Given the description of an element on the screen output the (x, y) to click on. 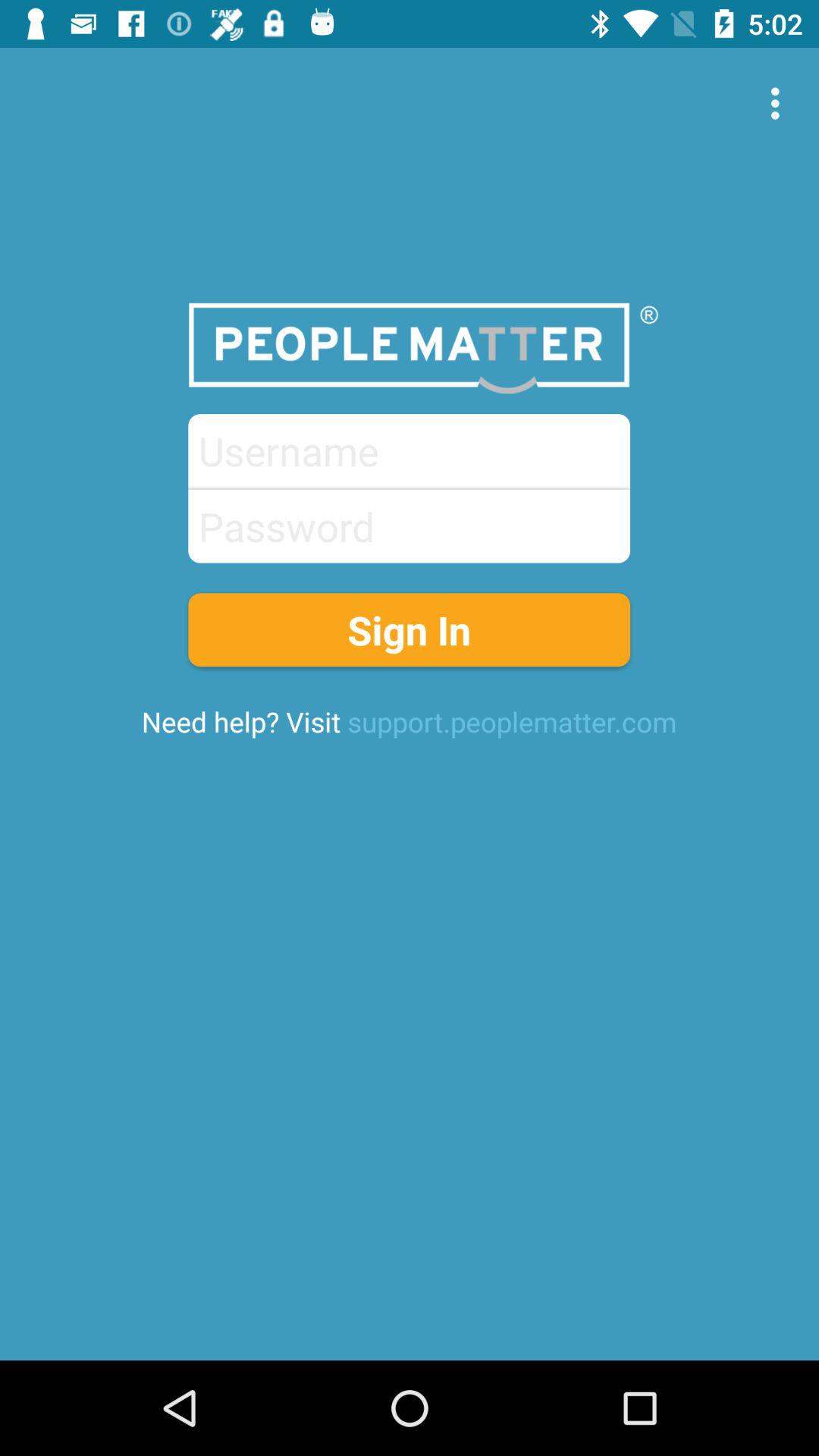
turn off sign in icon (409, 629)
